Given the description of an element on the screen output the (x, y) to click on. 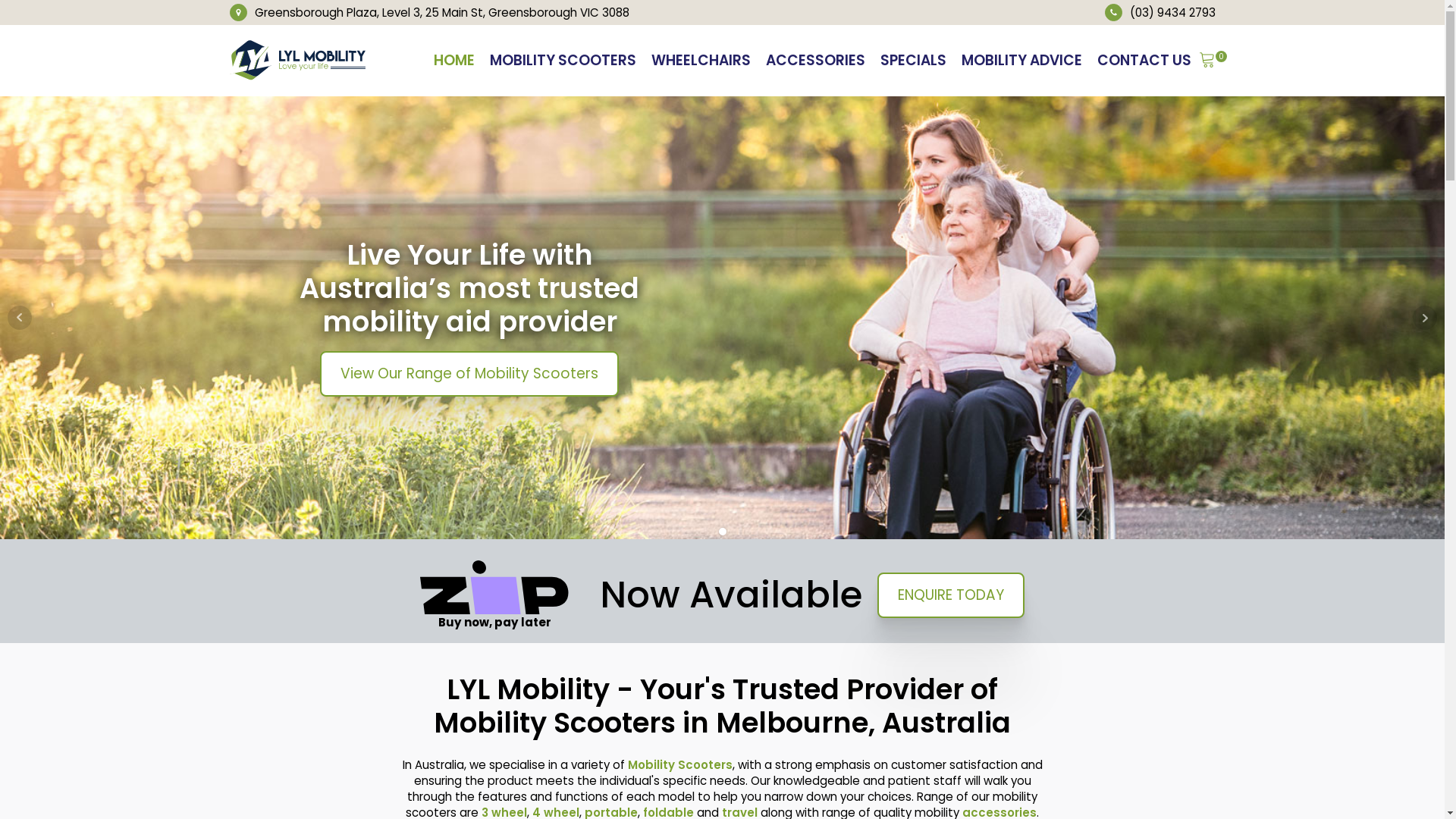
CONTACT US Element type: text (1143, 60)
ENQUIRE TODAY Element type: text (950, 595)
WHEELCHAIRS Element type: text (700, 60)
MOBILITY ADVICE Element type: text (1021, 60)
MOBILITY SCOOTERS Element type: text (562, 60)
(03) 9434 2793 Element type: text (1172, 12)
Next Element type: text (1424, 317)
SPECIALS Element type: text (912, 60)
0 Element type: text (1206, 60)
Mobility Scooters Element type: text (679, 764)
View Our Range of Mobility Scooters Element type: text (469, 373)
ACCESSORIES Element type: text (815, 60)
Prev Element type: text (19, 317)
HOME Element type: text (454, 60)
